Given the description of an element on the screen output the (x, y) to click on. 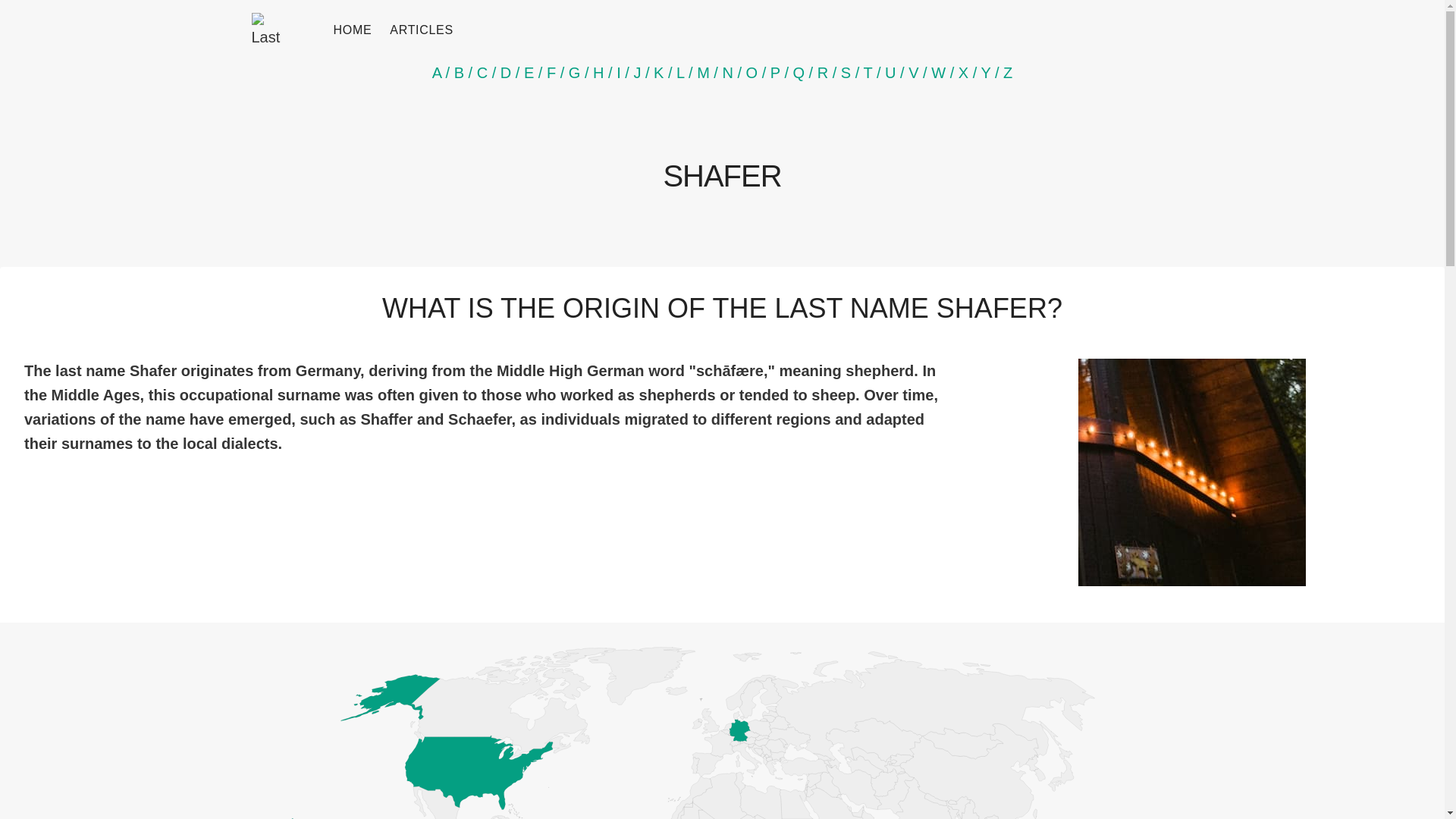
ARTICLES (421, 30)
HOME (352, 30)
